Given the description of an element on the screen output the (x, y) to click on. 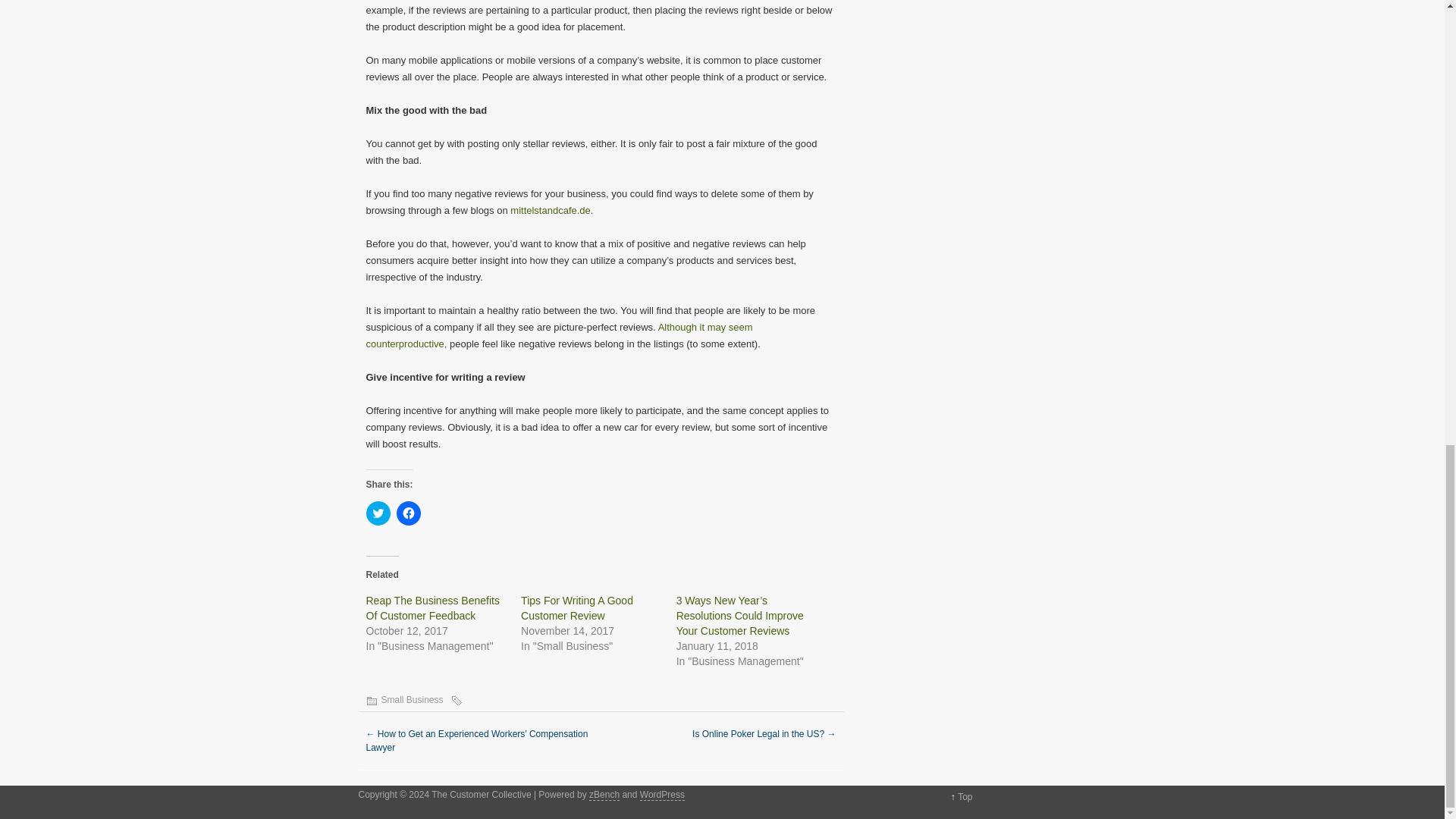
Although it may seem counterproductive, (558, 335)
Click to share on Facebook (408, 513)
Tips For Writing A Good Customer Review (577, 607)
Reap The Business Benefits Of Customer Feedback (432, 607)
Reap The Business Benefits Of Customer Feedback (432, 607)
Tips For Writing A Good Customer Review (577, 607)
mittelstandcafe.de (551, 210)
Back to top (965, 796)
Small Business (411, 699)
Click to share on Twitter (377, 513)
